Given the description of an element on the screen output the (x, y) to click on. 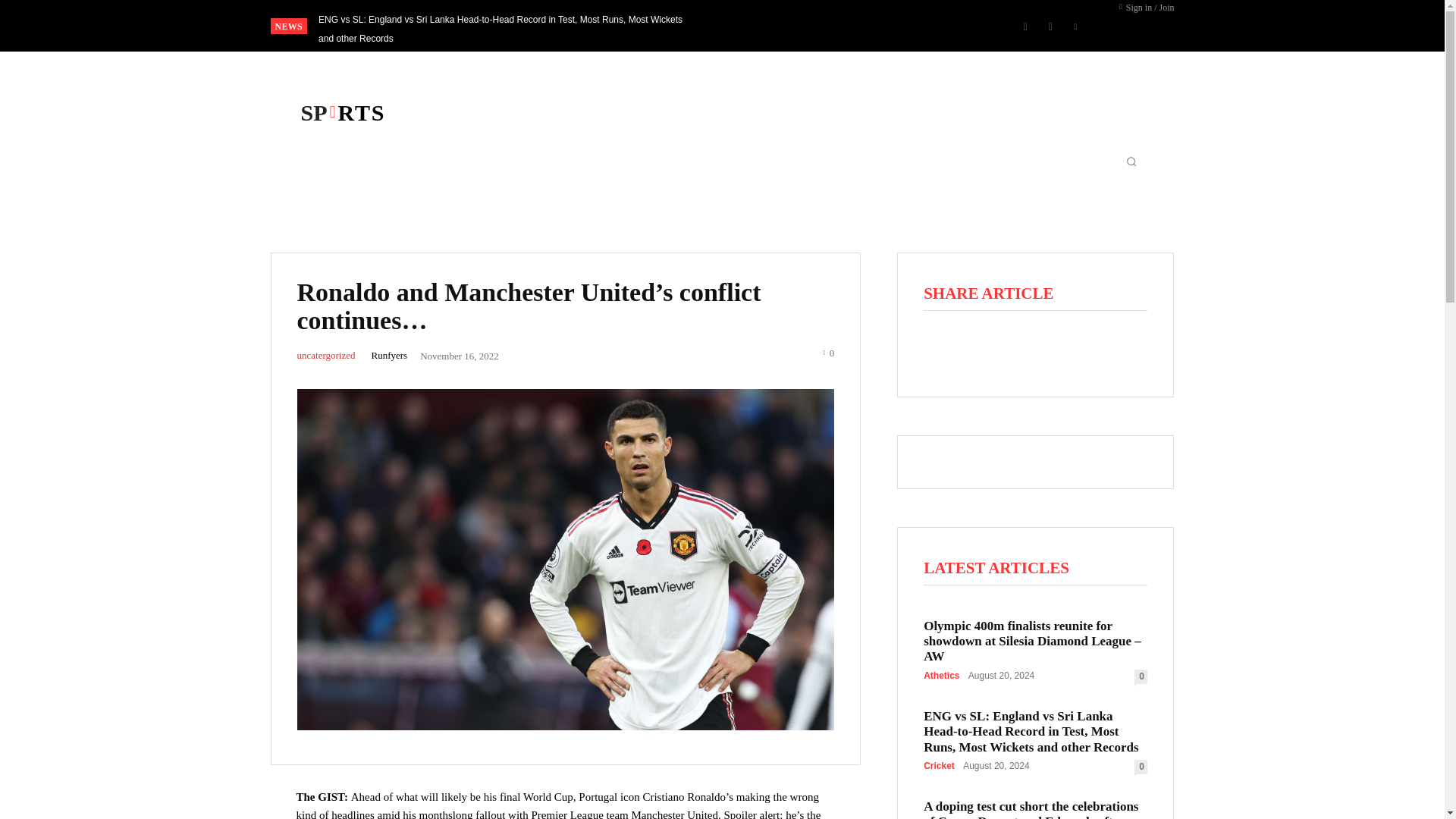
Twitter (1075, 25)
Instagram (1050, 25)
Facebook (1024, 25)
